Given the description of an element on the screen output the (x, y) to click on. 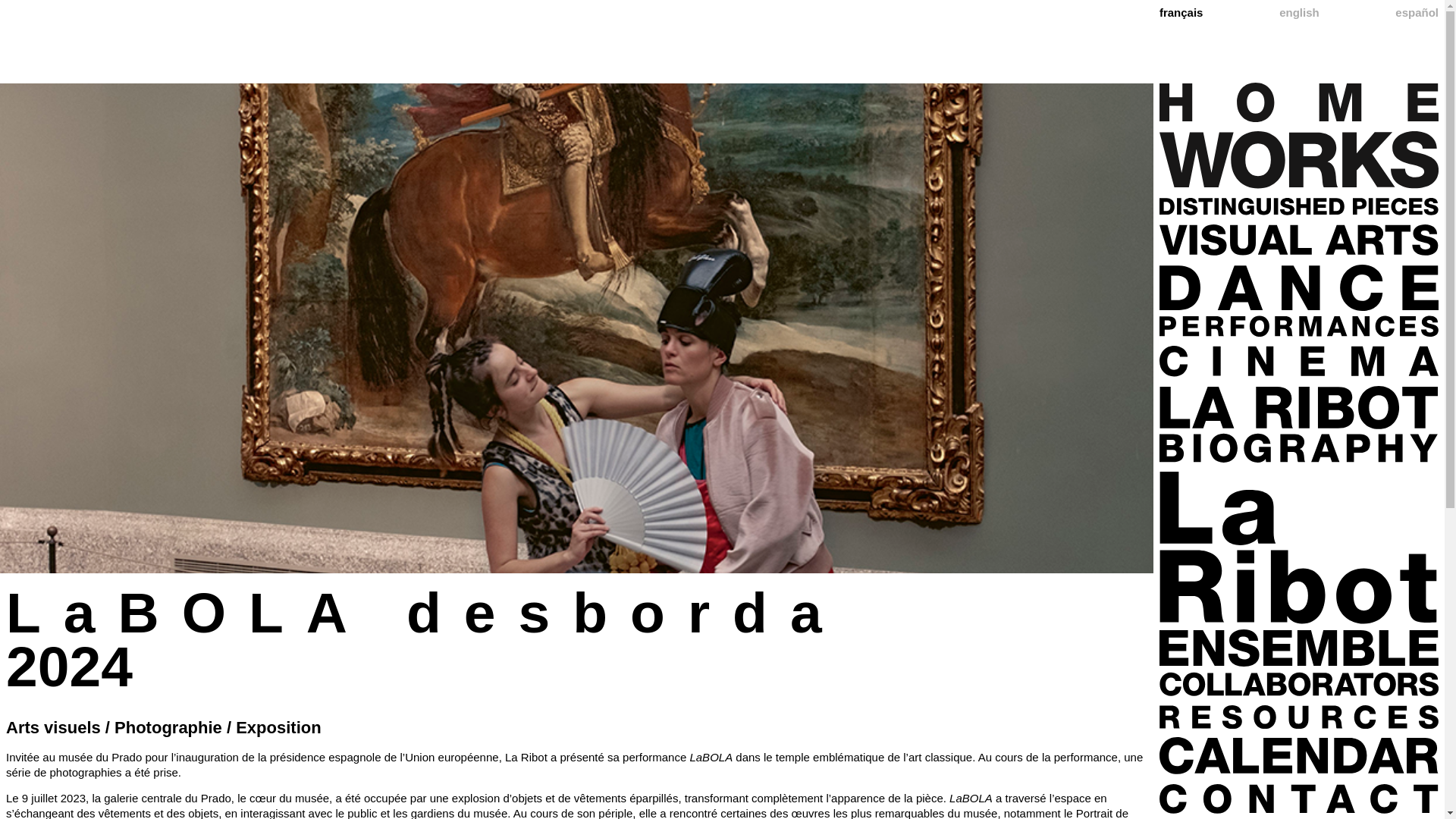
english (1299, 11)
